Given the description of an element on the screen output the (x, y) to click on. 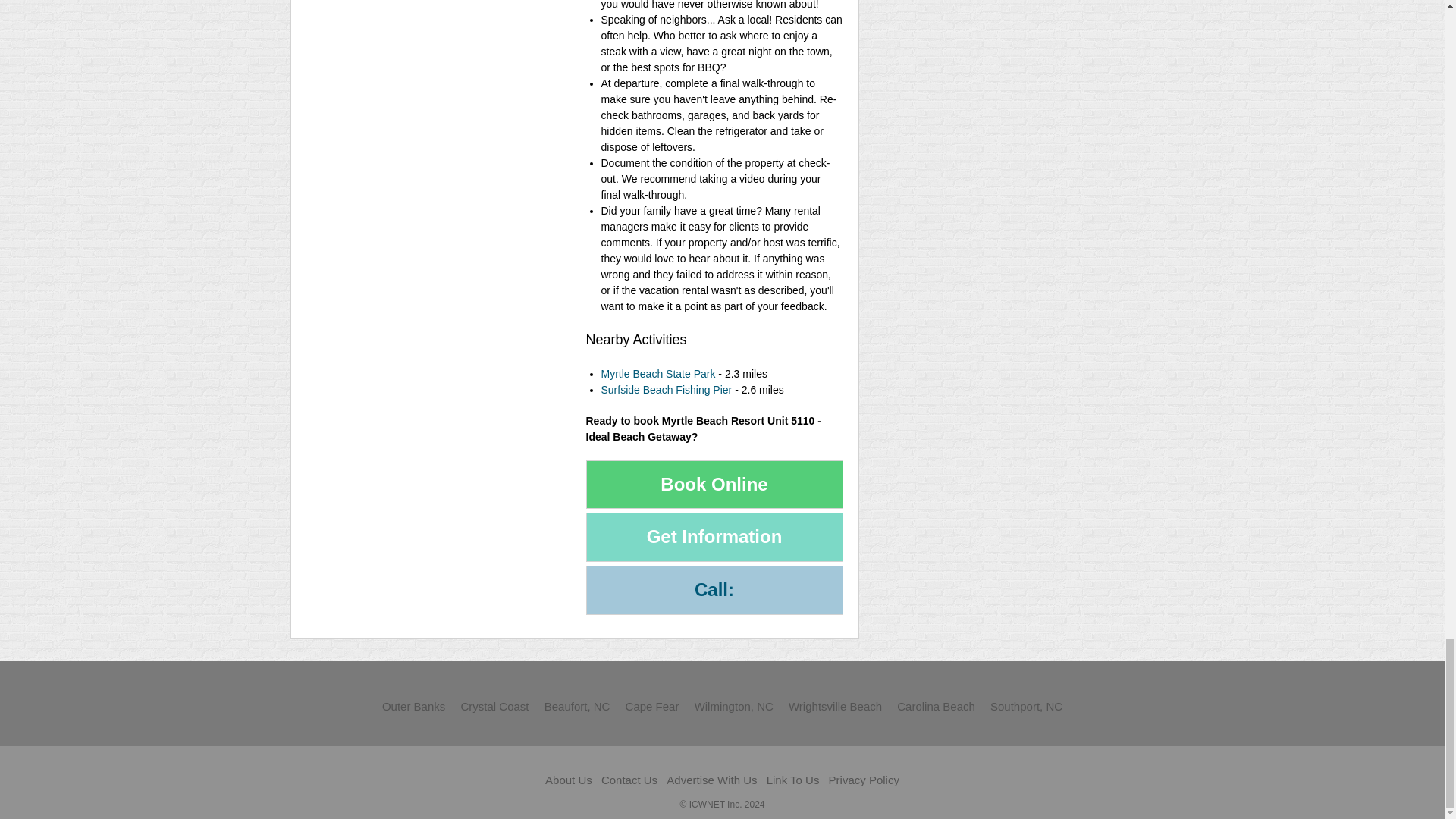
Get Information (714, 536)
Myrtle Beach State Park (656, 373)
Call: (714, 590)
Book Online (714, 484)
Surfside Beach Fishing Pier (665, 389)
